Given the description of an element on the screen output the (x, y) to click on. 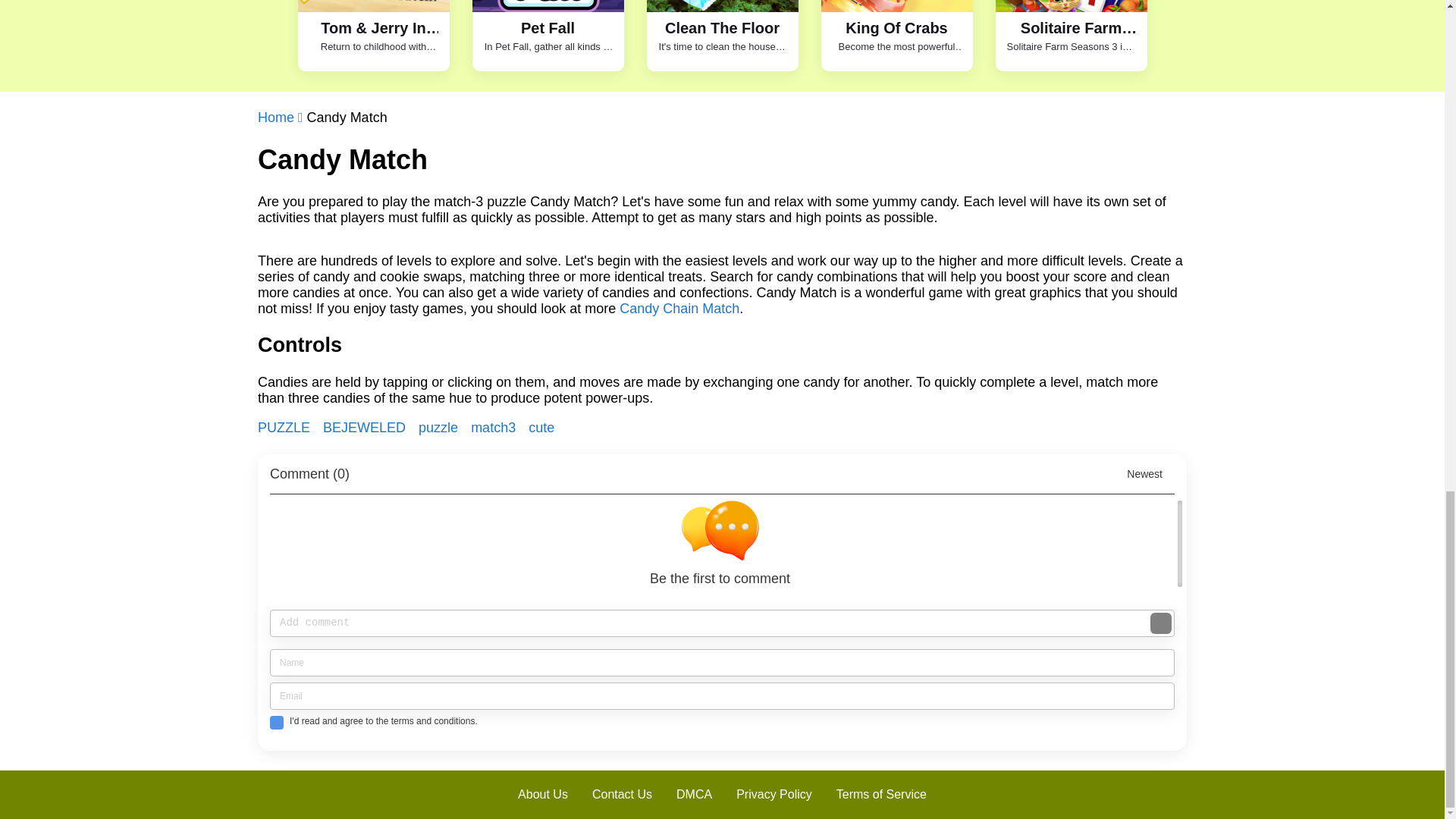
About Us (542, 794)
PUZZLE (285, 427)
Puzzle (440, 427)
Home (282, 117)
Be the first to comment (725, 543)
Contact Us (621, 794)
cute (366, 427)
cute (541, 427)
BEJEWELED (366, 427)
match3 (494, 427)
match3 (494, 427)
cute (285, 427)
